Given the description of an element on the screen output the (x, y) to click on. 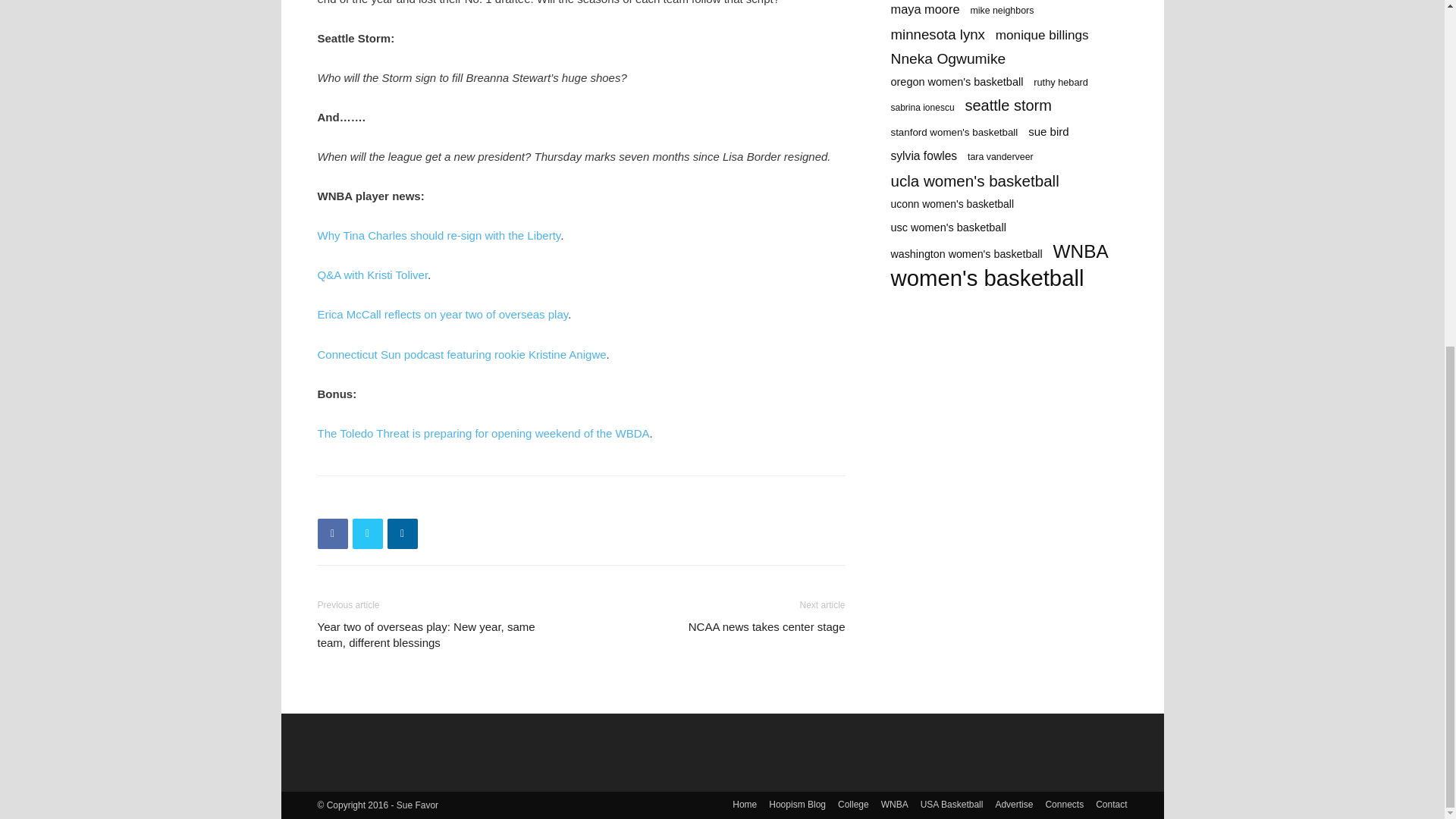
Twitter (366, 533)
Facebook (332, 533)
Why Tina Charles should re-sign with the Liberty (438, 235)
Linkedin (401, 533)
Erica McCall reflects on year two of overseas play (442, 314)
bottomFacebookLike (430, 499)
Connecticut Sun podcast featuring rookie Kristine Anigwe (461, 354)
